Given the description of an element on the screen output the (x, y) to click on. 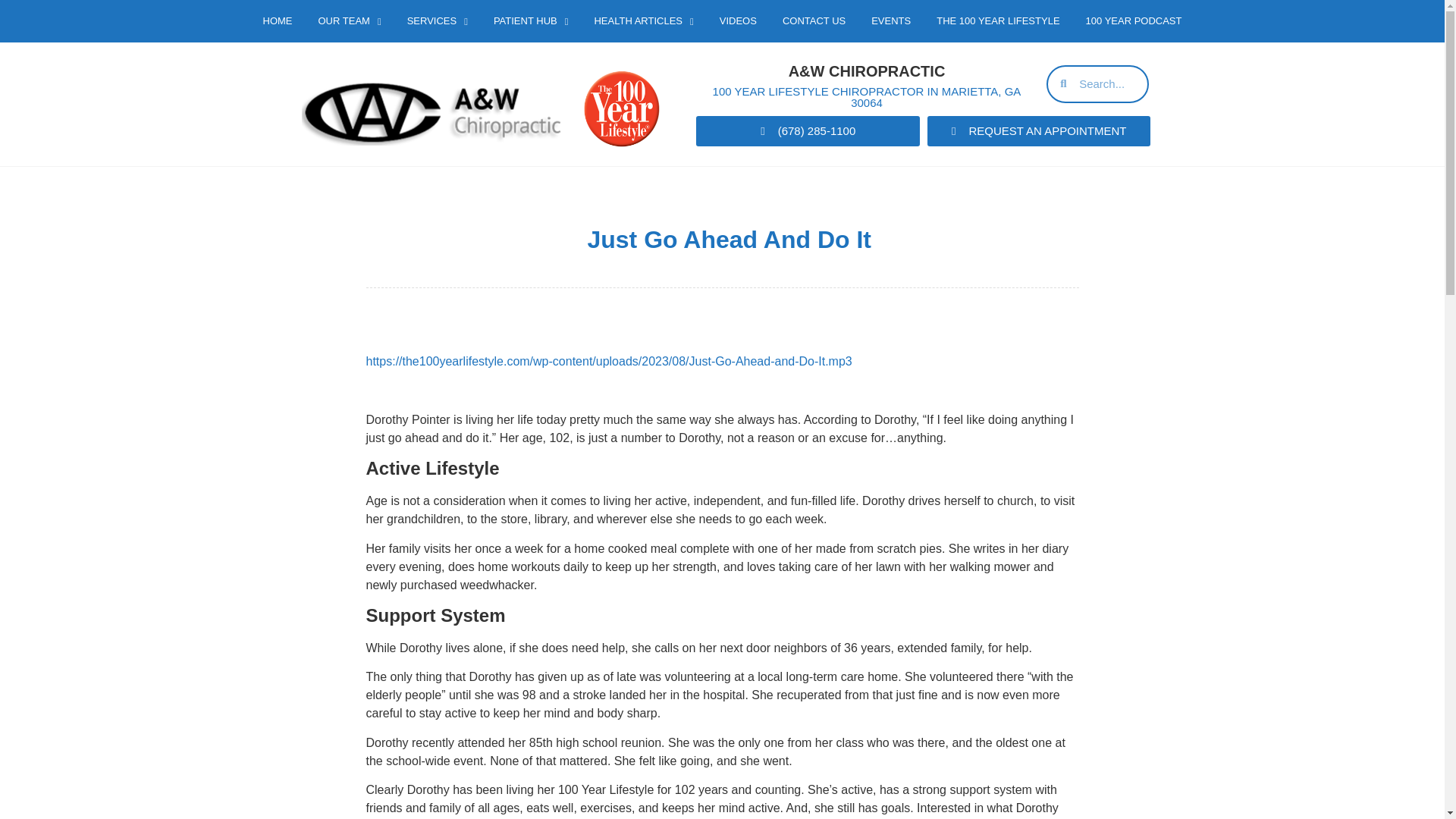
HOME (277, 21)
SERVICES (437, 21)
OUR TEAM (348, 21)
